Given the description of an element on the screen output the (x, y) to click on. 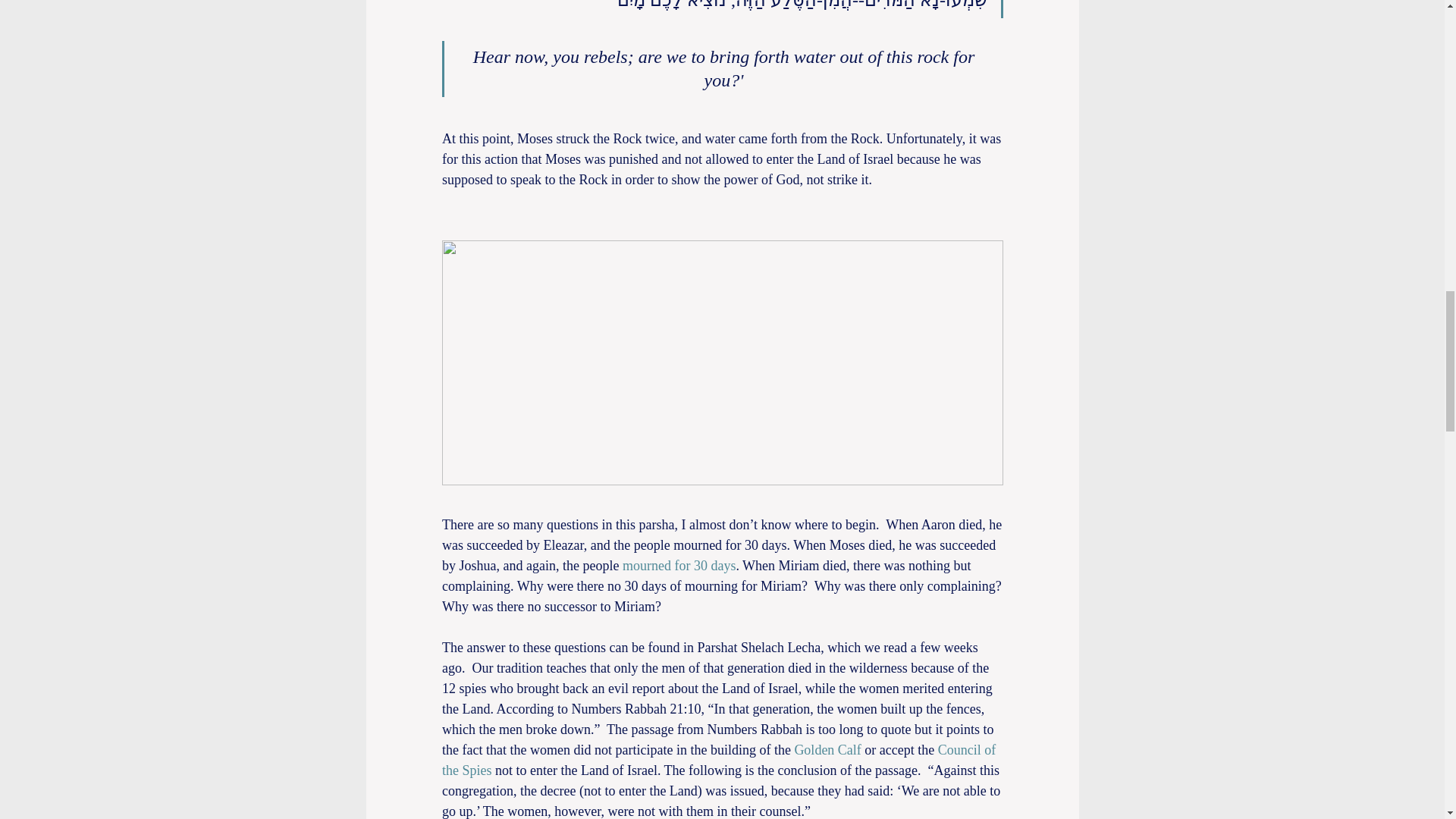
mourned for 30 days (678, 566)
Golden Calf  (828, 750)
Council of the Spies (719, 760)
